Given the description of an element on the screen output the (x, y) to click on. 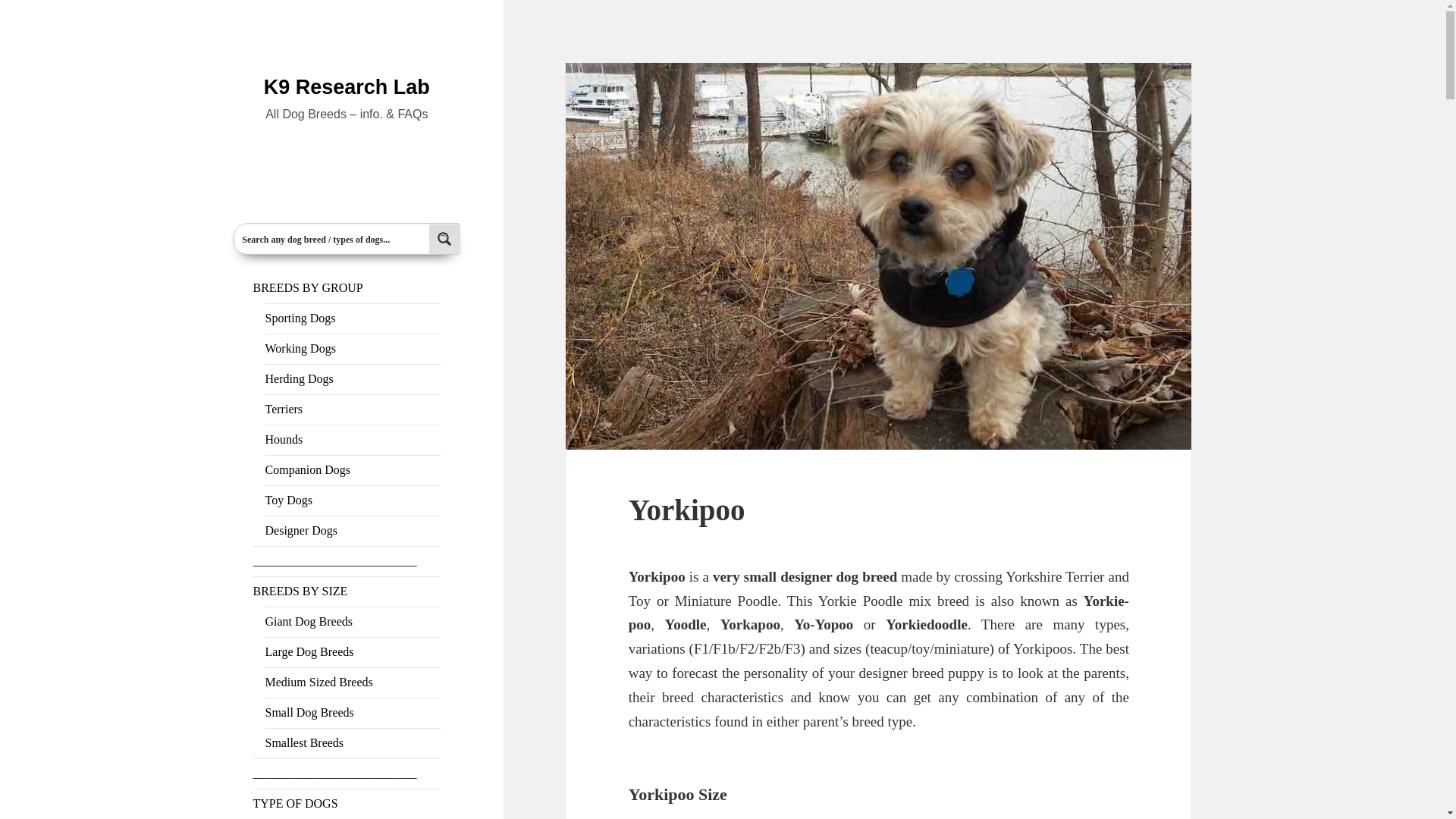
Terriers (283, 408)
Companion Dogs (307, 469)
Herding Dogs (298, 378)
Giant Dog Breeds (308, 621)
TYPE OF DOGS (295, 802)
BREEDS BY SIZE (300, 590)
Hounds (283, 439)
Small Dog Breeds (308, 712)
K9 Research Lab (346, 87)
Sporting Dogs (300, 318)
